Given the description of an element on the screen output the (x, y) to click on. 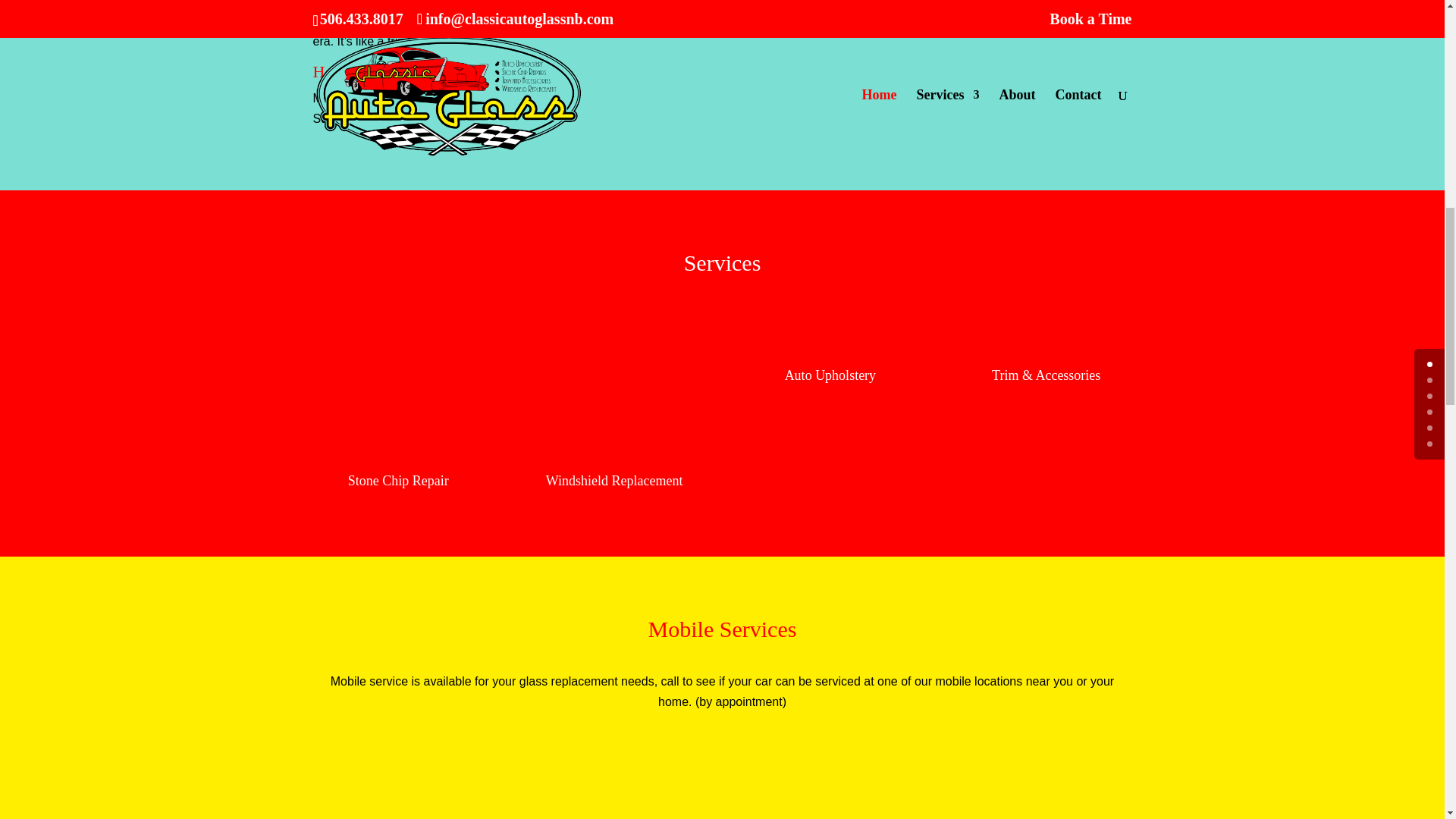
Stone Chip Repair (397, 480)
Auto Upholstery (830, 375)
Windshield Replacement (614, 480)
